Given the description of an element on the screen output the (x, y) to click on. 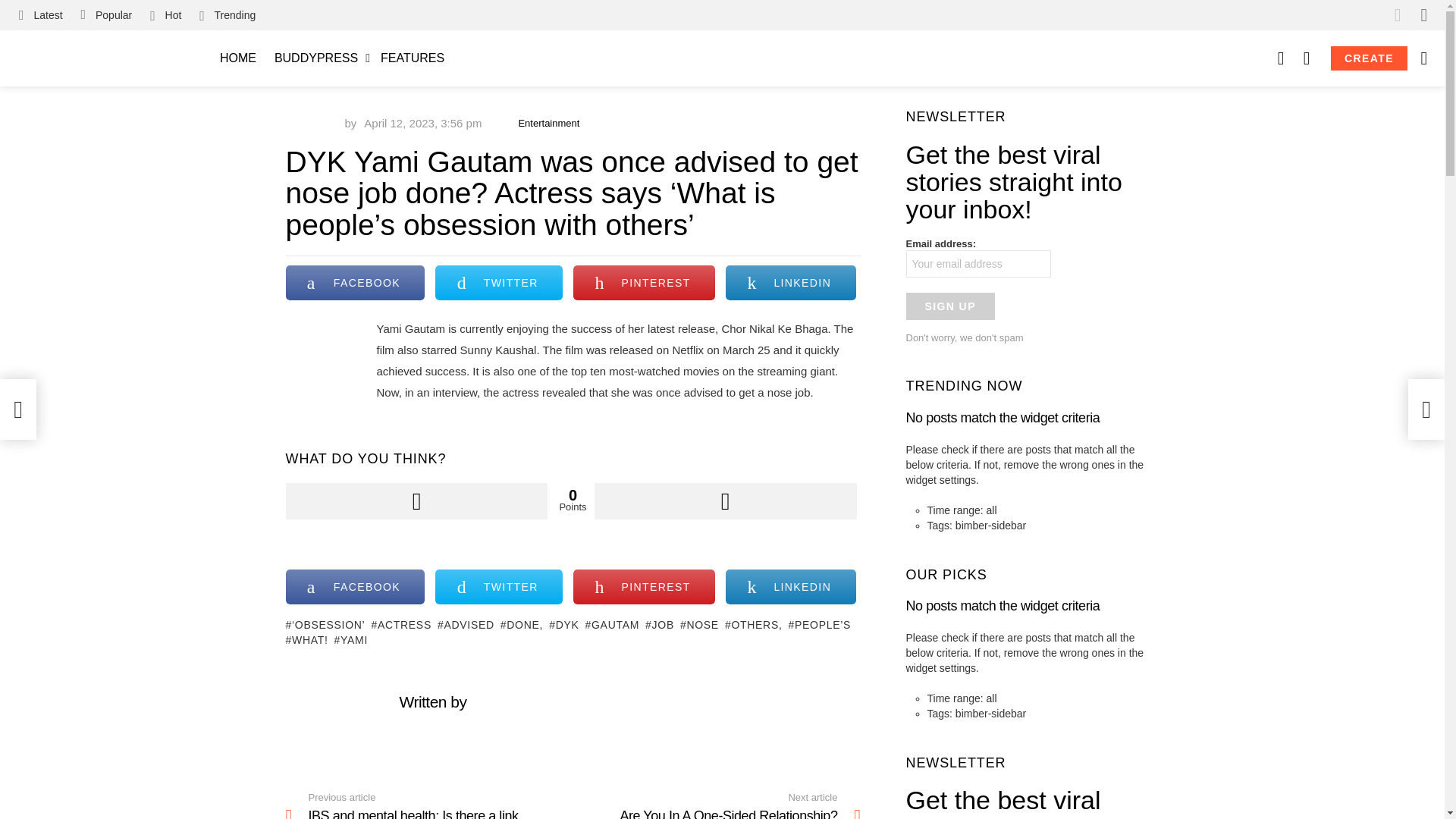
Share on Pinterest (643, 586)
Hot (165, 14)
TWITTER (498, 586)
Share on Twitter (498, 586)
Sign up (949, 306)
Share on Facebook (355, 586)
Popular (105, 14)
CREATE (1368, 57)
Downvote (725, 501)
PINTEREST (643, 282)
